Given the description of an element on the screen output the (x, y) to click on. 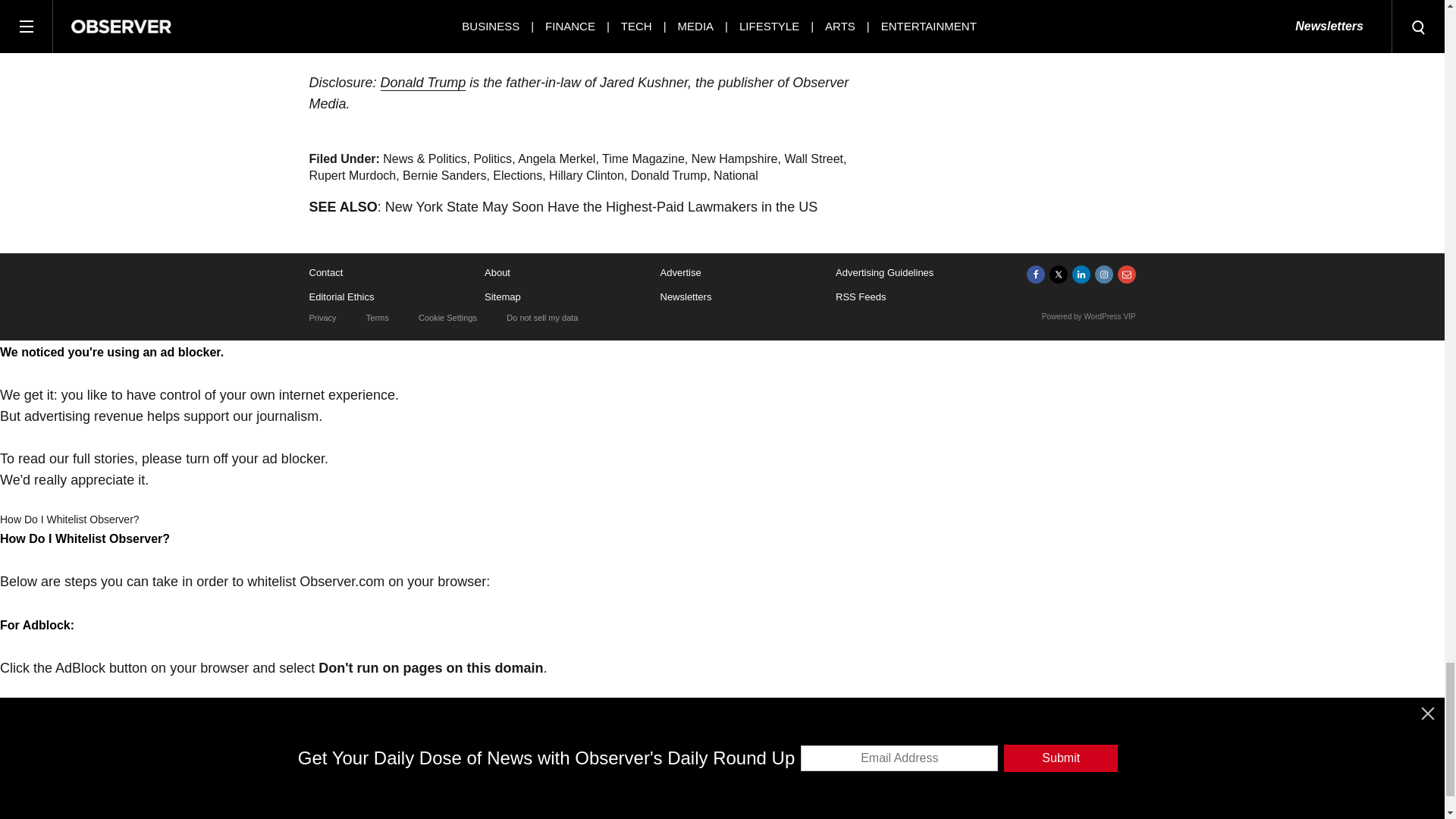
Donald Trump (422, 82)
